Given the description of an element on the screen output the (x, y) to click on. 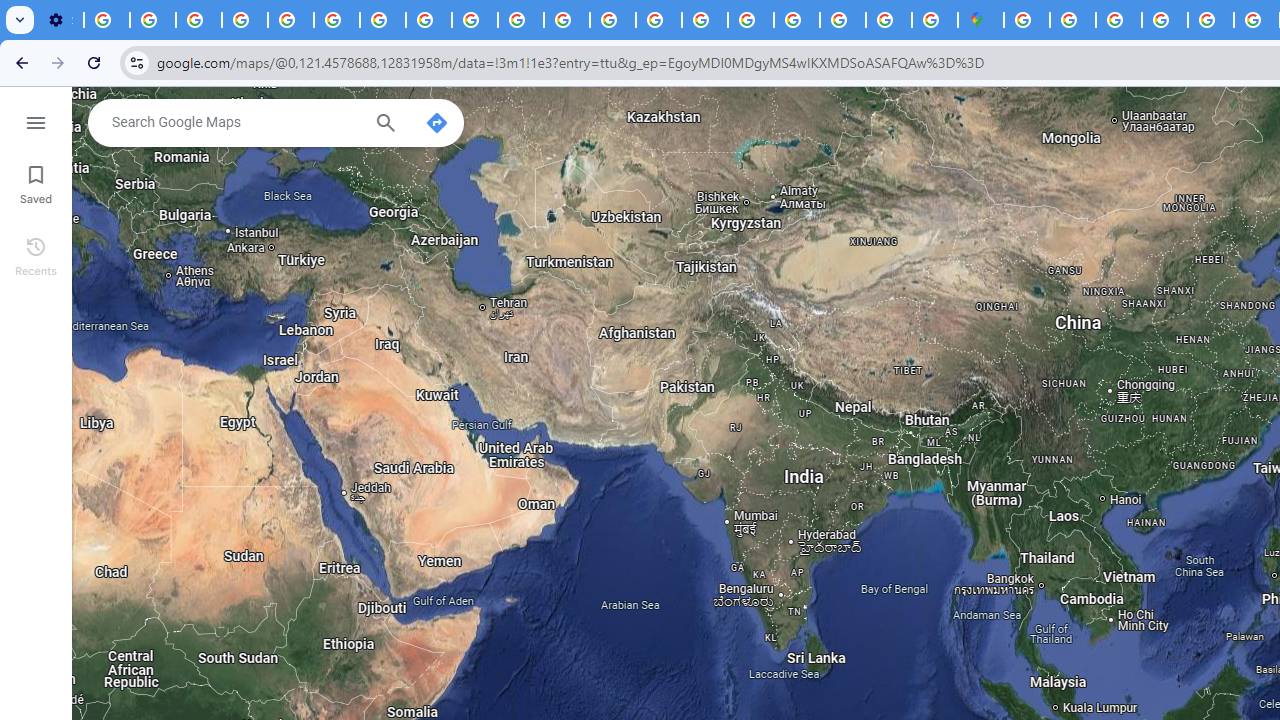
Google Account Help (244, 20)
Recents (35, 254)
Google Maps (980, 20)
Privacy Help Center - Policies Help (613, 20)
Saved (35, 182)
Privacy Help Center - Policies Help (290, 20)
YouTube (336, 20)
Terms and Conditions (1210, 20)
Sign in - Google Accounts (1072, 20)
